Given the description of an element on the screen output the (x, y) to click on. 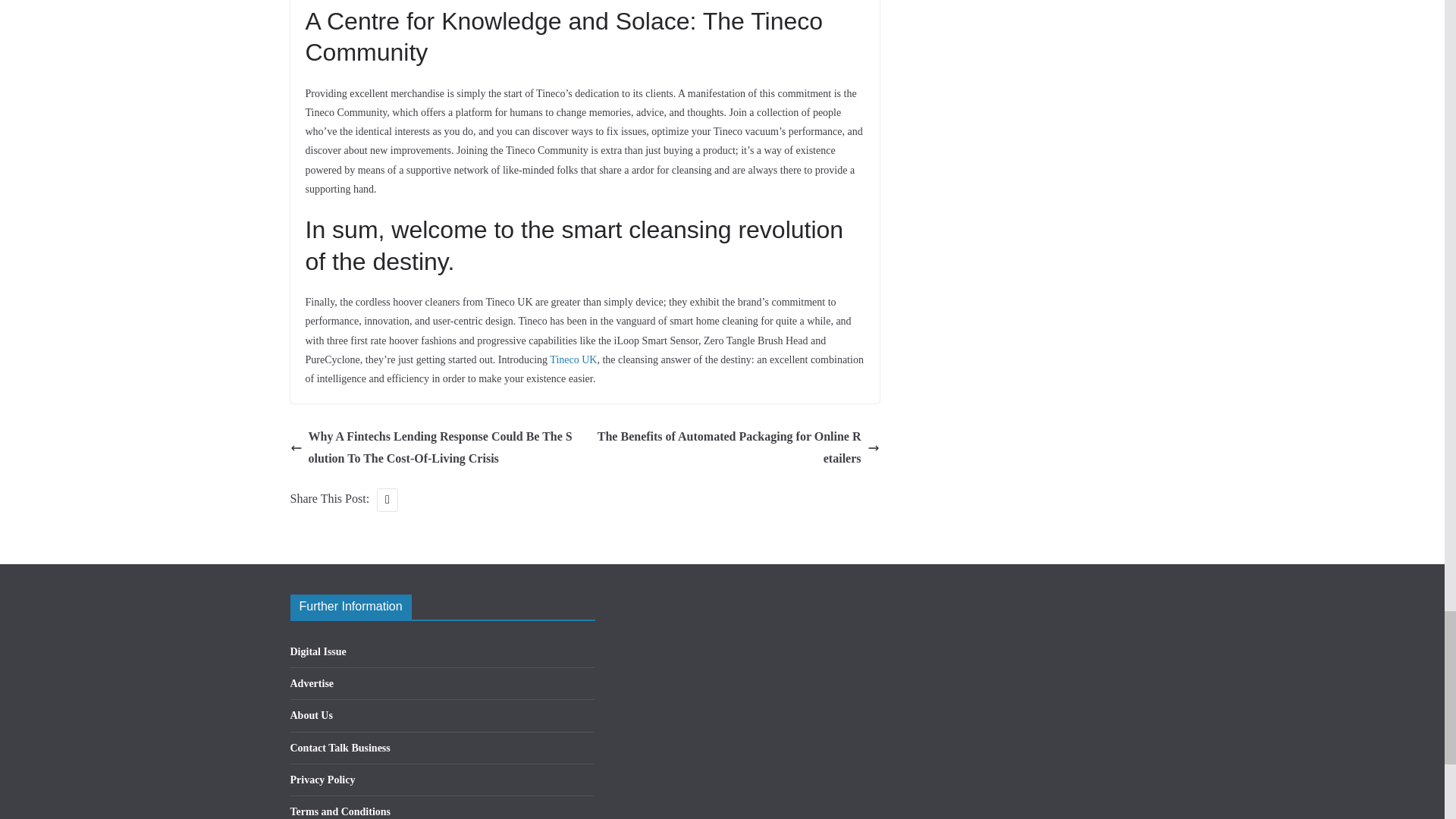
Tineco UK (573, 359)
The Benefits of Automated Packaging for Online Retailers (735, 447)
